Given the description of an element on the screen output the (x, y) to click on. 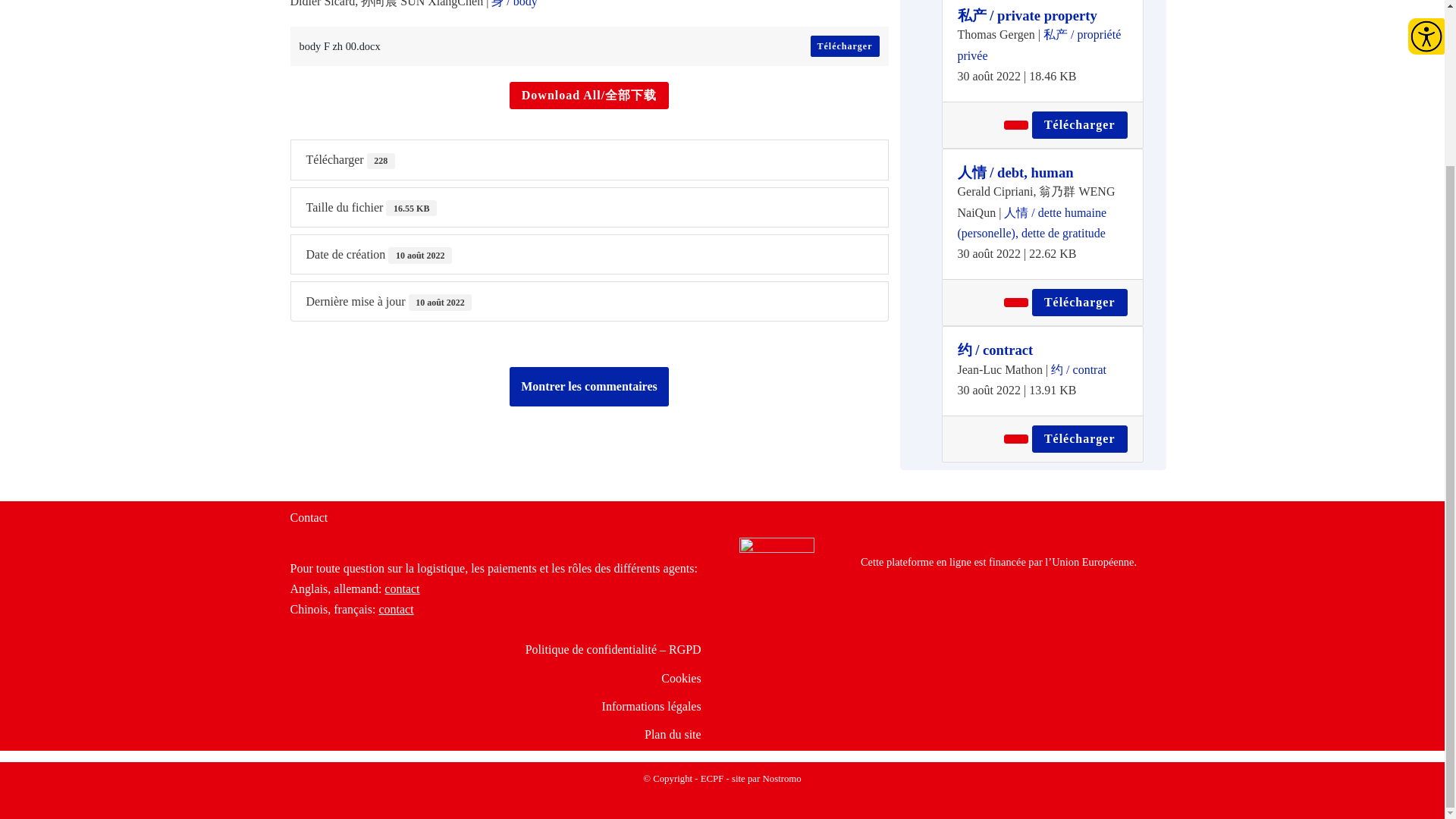
Montrer les commentaires (588, 386)
